Given the description of an element on the screen output the (x, y) to click on. 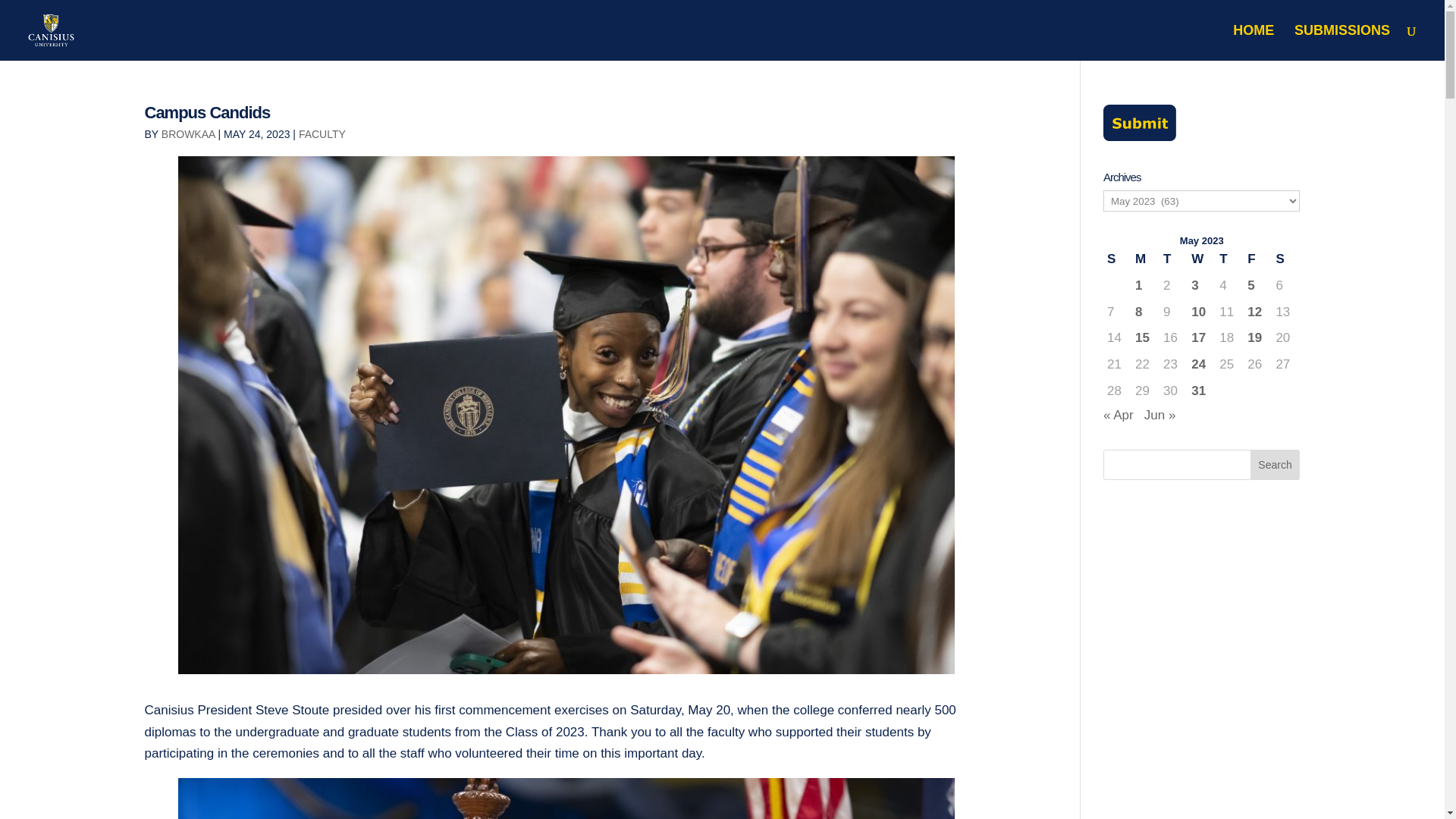
Posts by browkaa (188, 133)
Monday (1144, 259)
Campus Candids (206, 112)
Wednesday (1201, 259)
SUBMISSIONS (1342, 42)
BROWKAA (188, 133)
Search (1275, 464)
Friday (1257, 259)
HOME (1253, 42)
Thursday (1229, 259)
Sunday (1117, 259)
Saturday (1285, 259)
Tuesday (1173, 259)
FACULTY (322, 133)
